Given the description of an element on the screen output the (x, y) to click on. 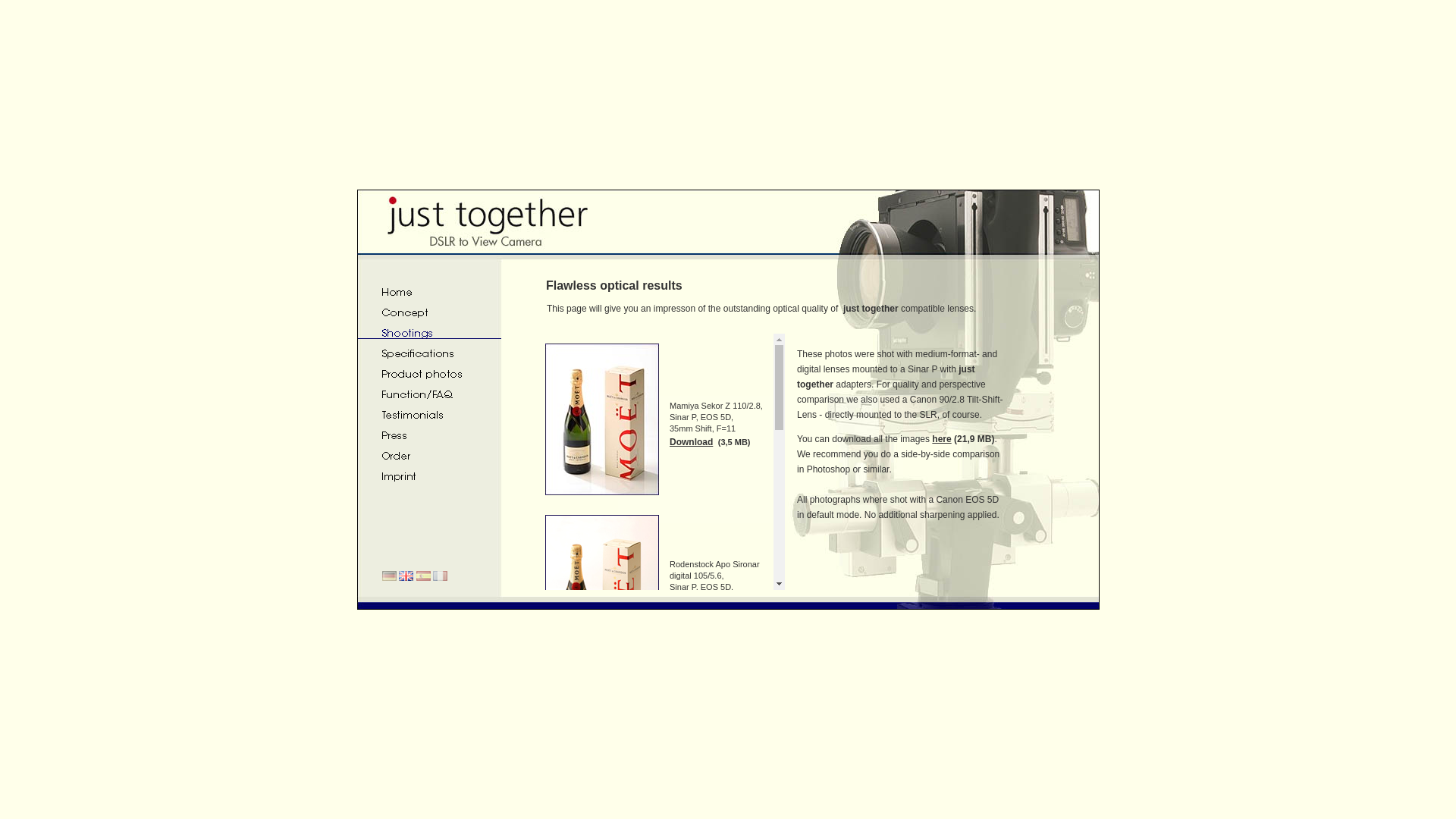
here (940, 439)
Download (691, 441)
Download (691, 784)
Download (691, 611)
